Given the description of an element on the screen output the (x, y) to click on. 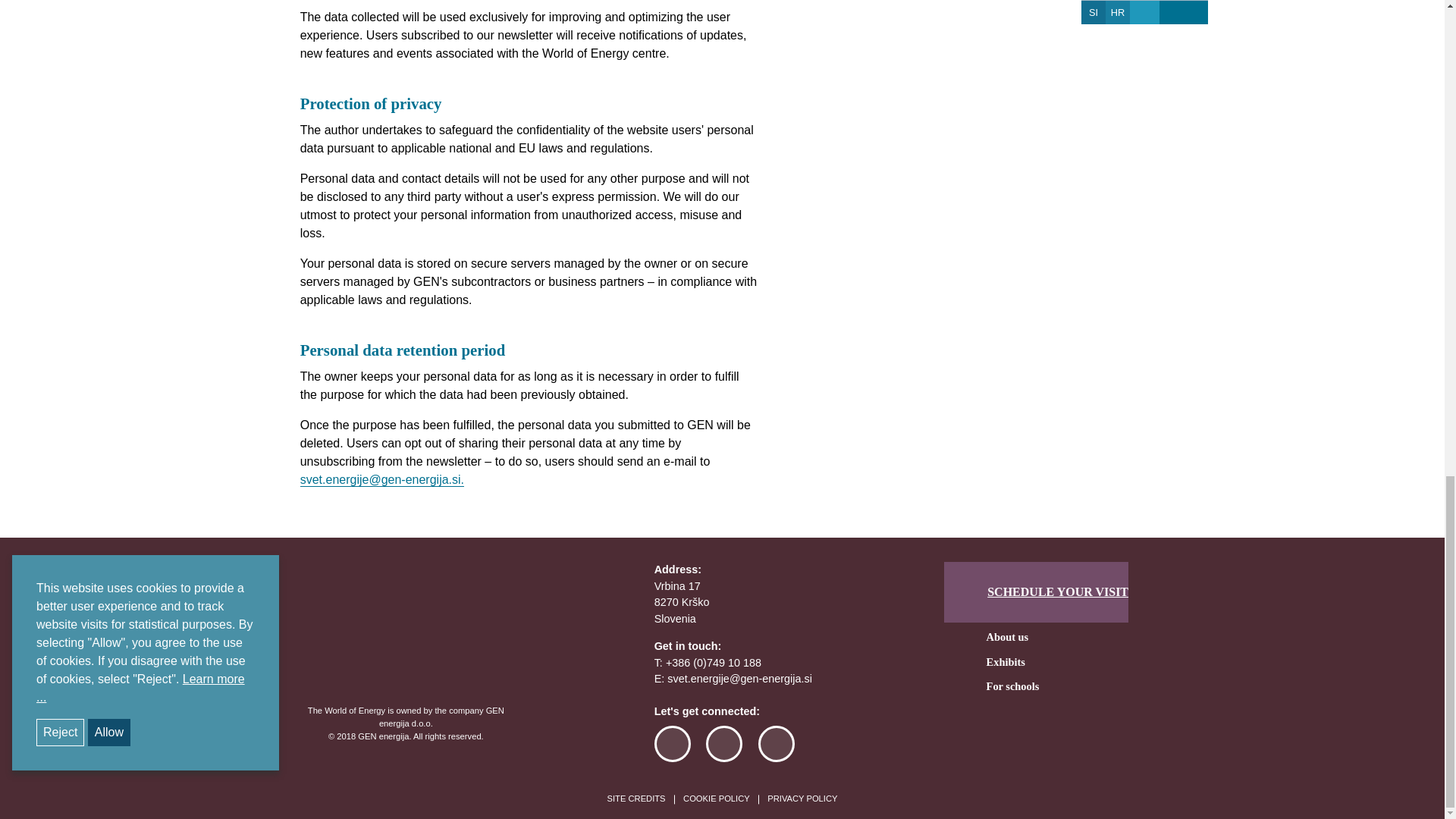
For schools (1013, 686)
PRIVACY POLICY (802, 799)
Exhibits (1006, 662)
About us (1008, 638)
COOKIE POLICY (715, 799)
SCHEDULE YOUR VISIT (1035, 591)
SITE CREDITS (636, 799)
